Given the description of an element on the screen output the (x, y) to click on. 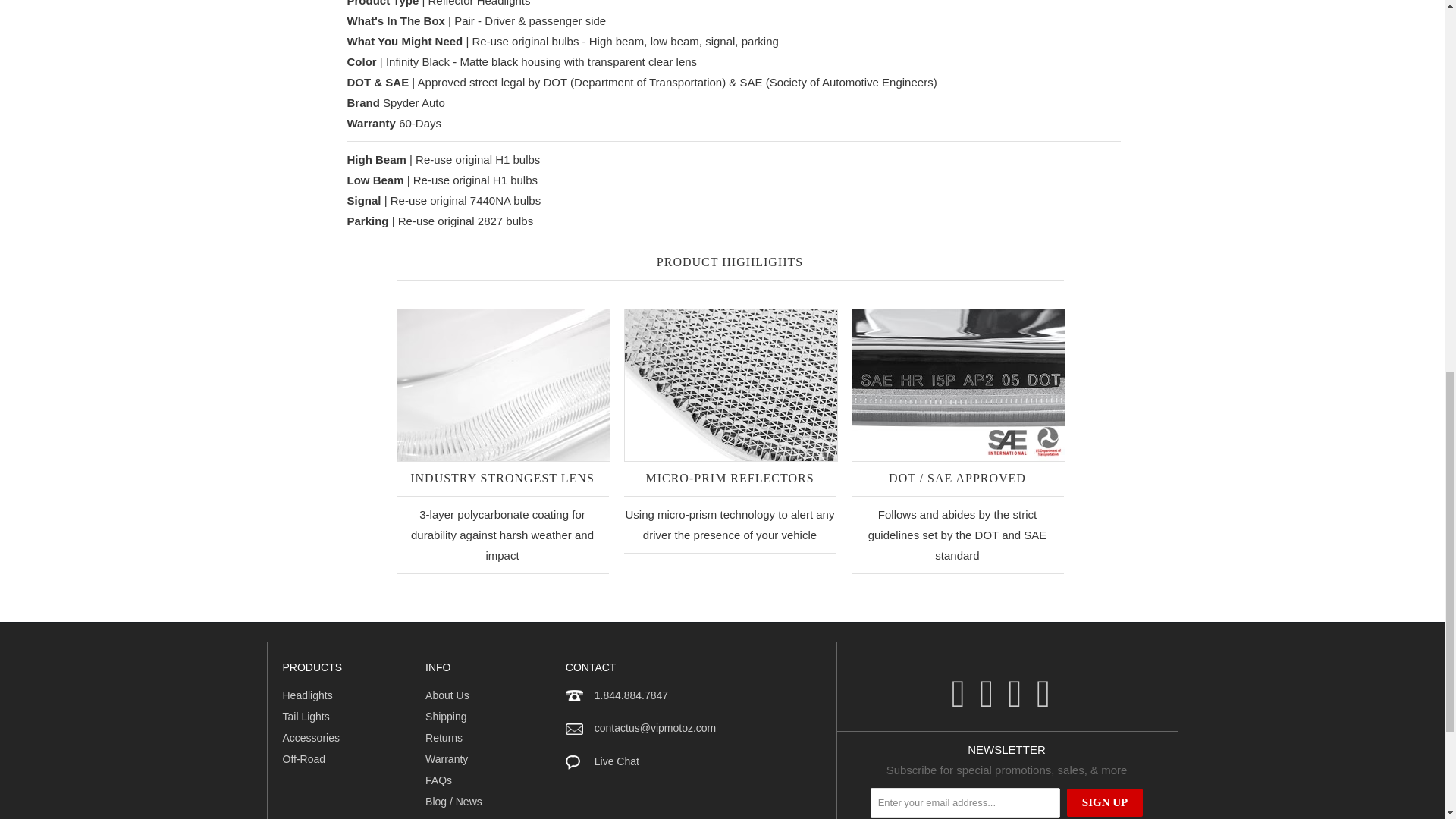
Sign Up (1104, 802)
